Given the description of an element on the screen output the (x, y) to click on. 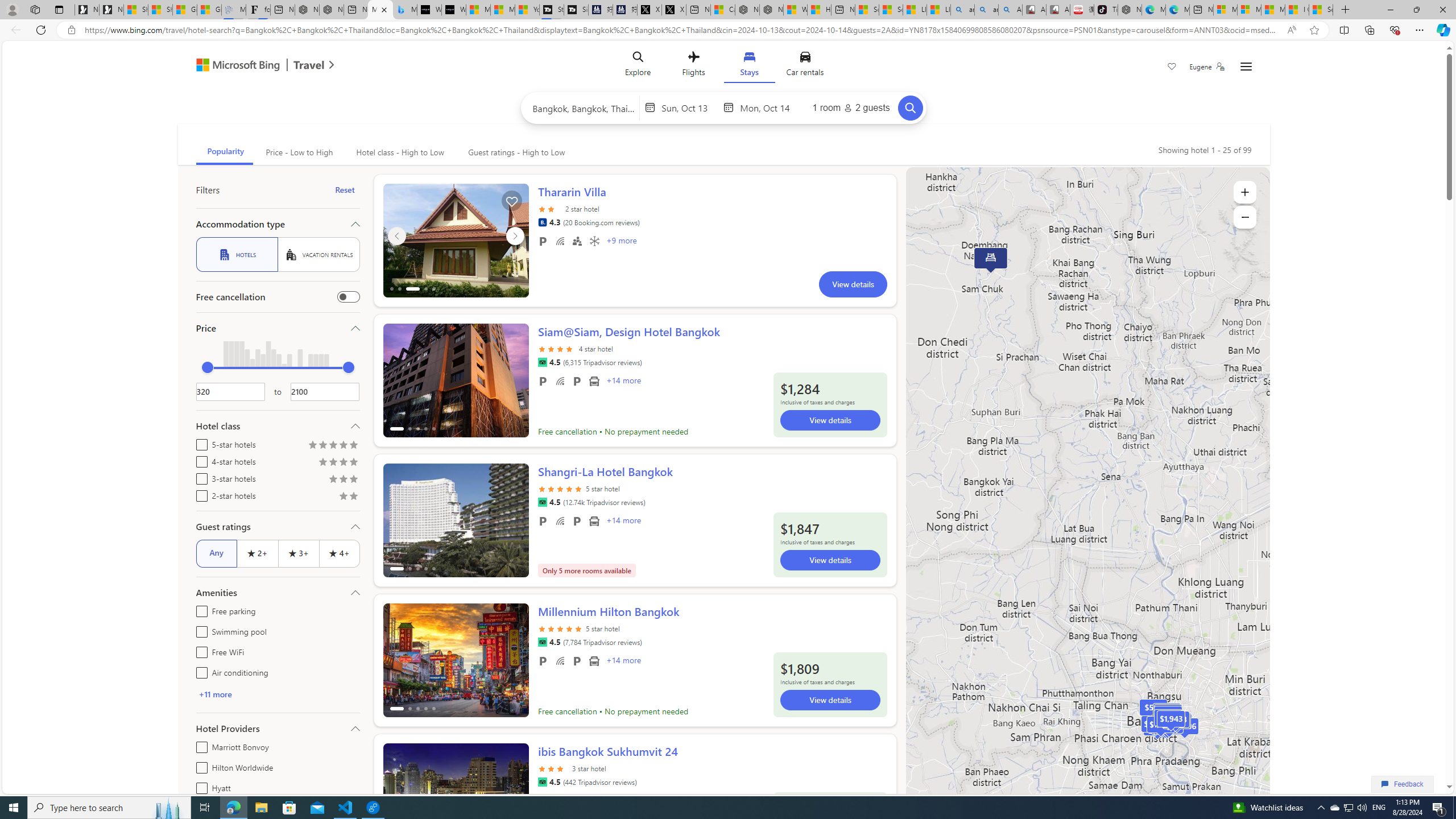
max  (348, 367)
Booking.com (542, 221)
Search hotels or place (584, 107)
Airport transportation (593, 660)
HOTELS (236, 254)
Car rentals (804, 65)
Eugene (1206, 66)
2+ (256, 553)
5-star hotels (199, 442)
